Given the description of an element on the screen output the (x, y) to click on. 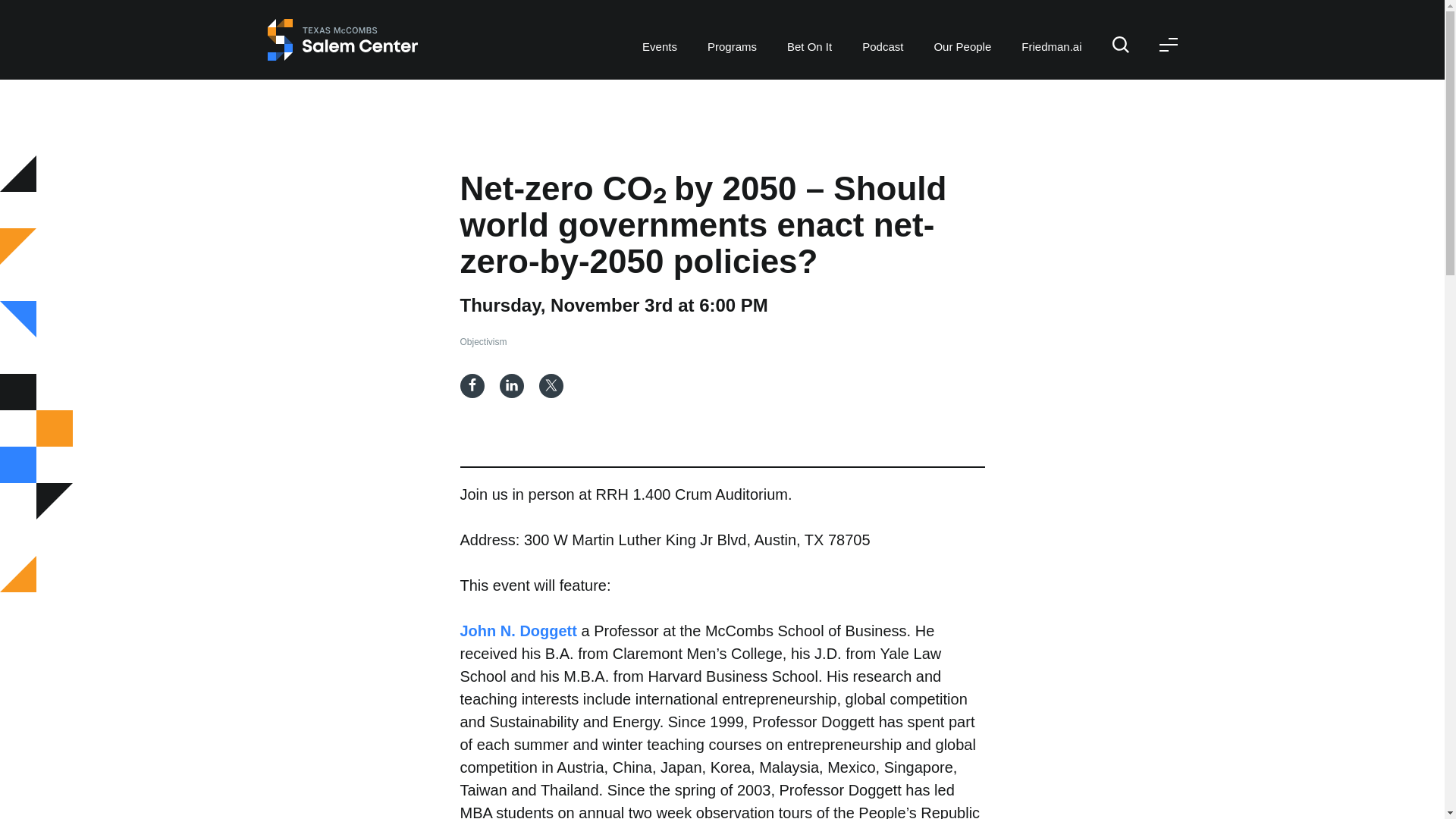
Friedman.ai (1051, 28)
Share on LinkedIn (510, 385)
Objectivism (483, 341)
Our People (962, 28)
Share on Twitter (550, 385)
Share on Facebook (471, 385)
John N. Doggett (518, 630)
